Given the description of an element on the screen output the (x, y) to click on. 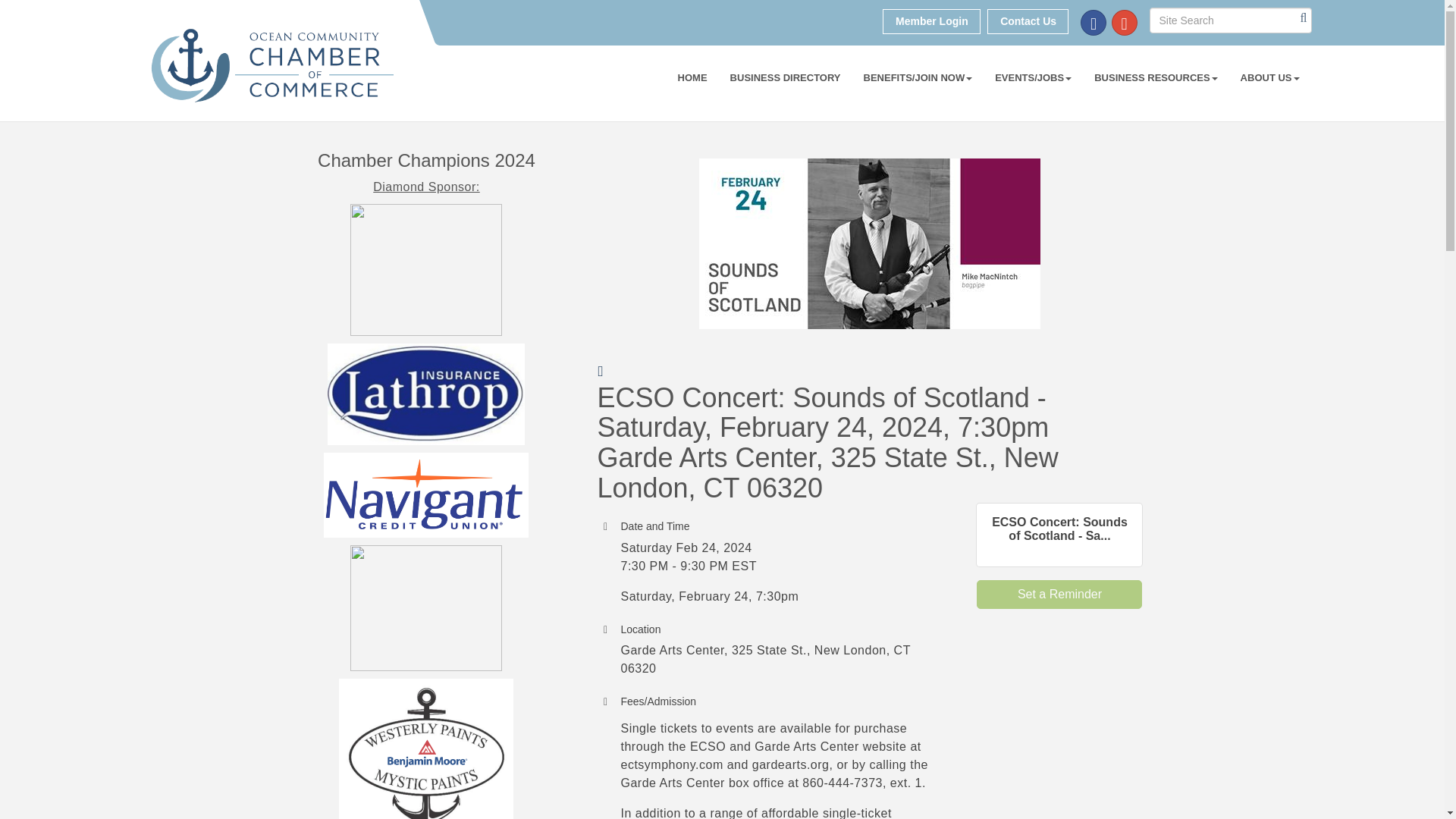
HOME (692, 77)
Icon Link (1124, 22)
BUSINESS DIRECTORY (785, 77)
Icon Link (1093, 22)
BUSINESS RESOURCES (1155, 77)
ABOUT US (1269, 77)
Member Login (930, 21)
Contact Us (1027, 21)
